Given the description of an element on the screen output the (x, y) to click on. 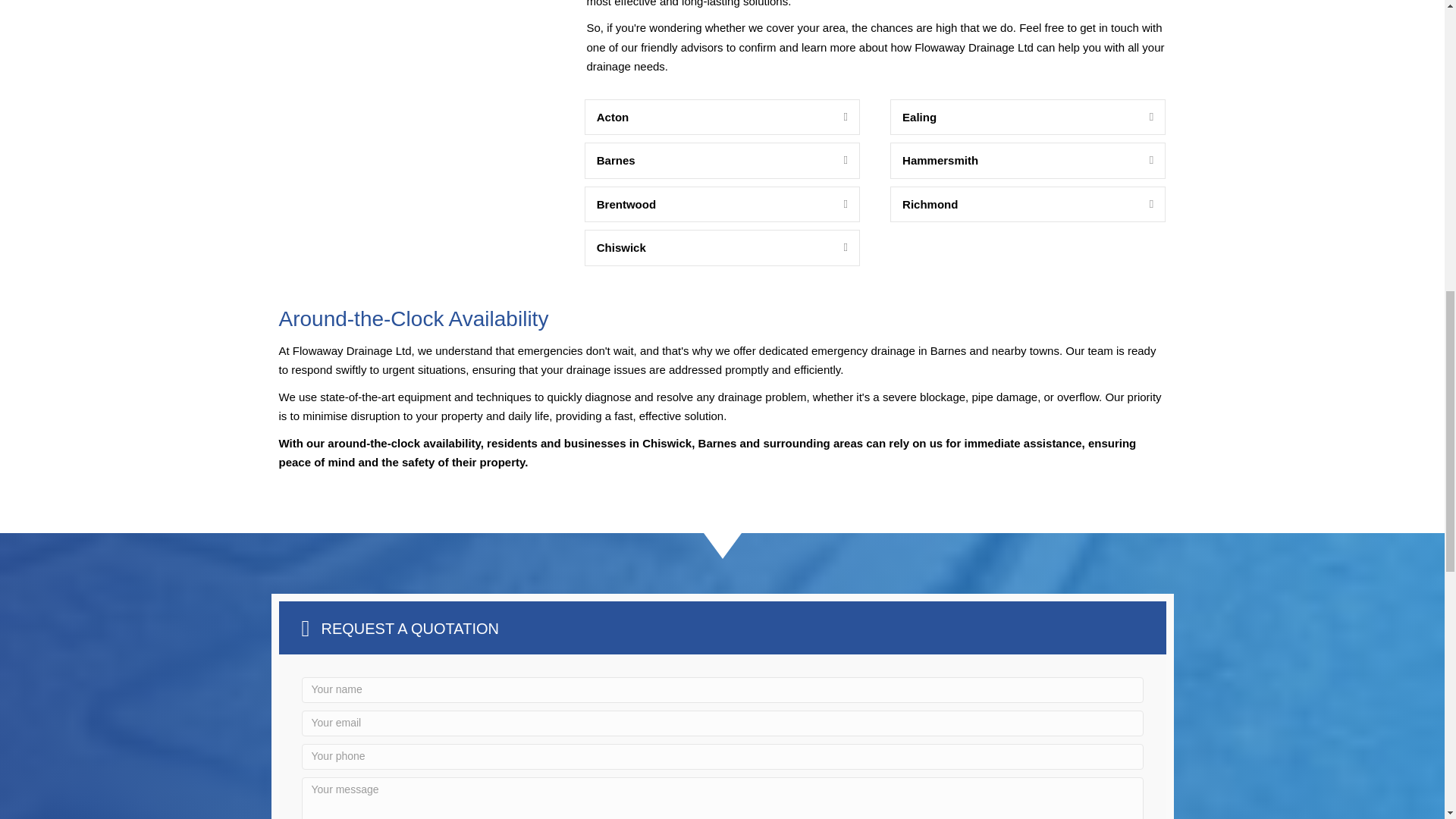
Chiswick (708, 247)
Expand (1139, 117)
Brentwood (708, 204)
Acton (708, 117)
Expand (834, 247)
Expand (834, 204)
Ealing (1014, 117)
Barnes (708, 160)
Expand (834, 117)
Expand (834, 160)
